Given the description of an element on the screen output the (x, y) to click on. 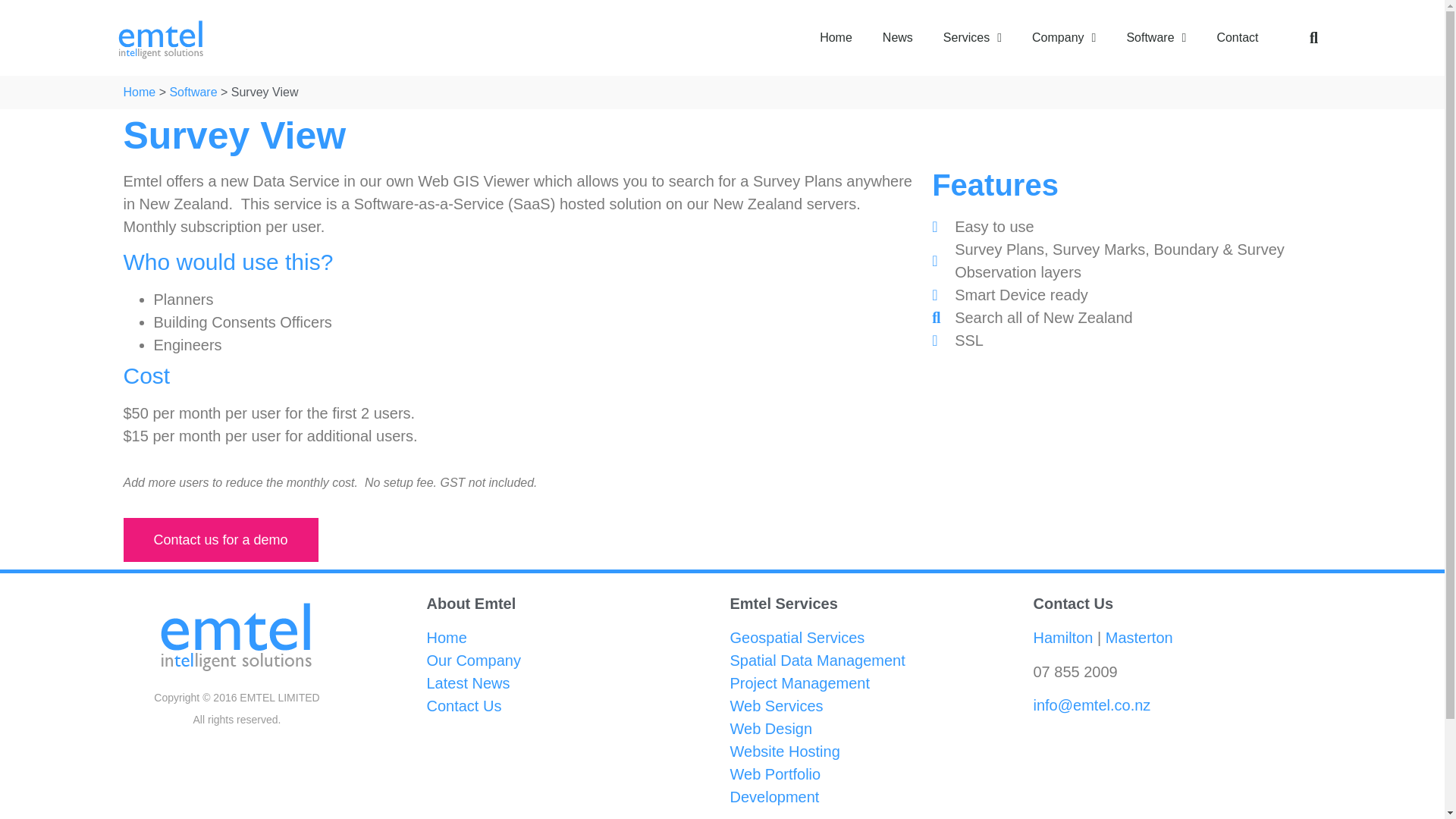
Software (1155, 38)
Company (473, 660)
Contact (1236, 38)
Website Hosting (784, 751)
Web Portfolio (775, 773)
Company (1063, 38)
Project Management (799, 682)
Spatial Data Management (816, 660)
Home (445, 637)
Web Design (770, 728)
